Given the description of an element on the screen output the (x, y) to click on. 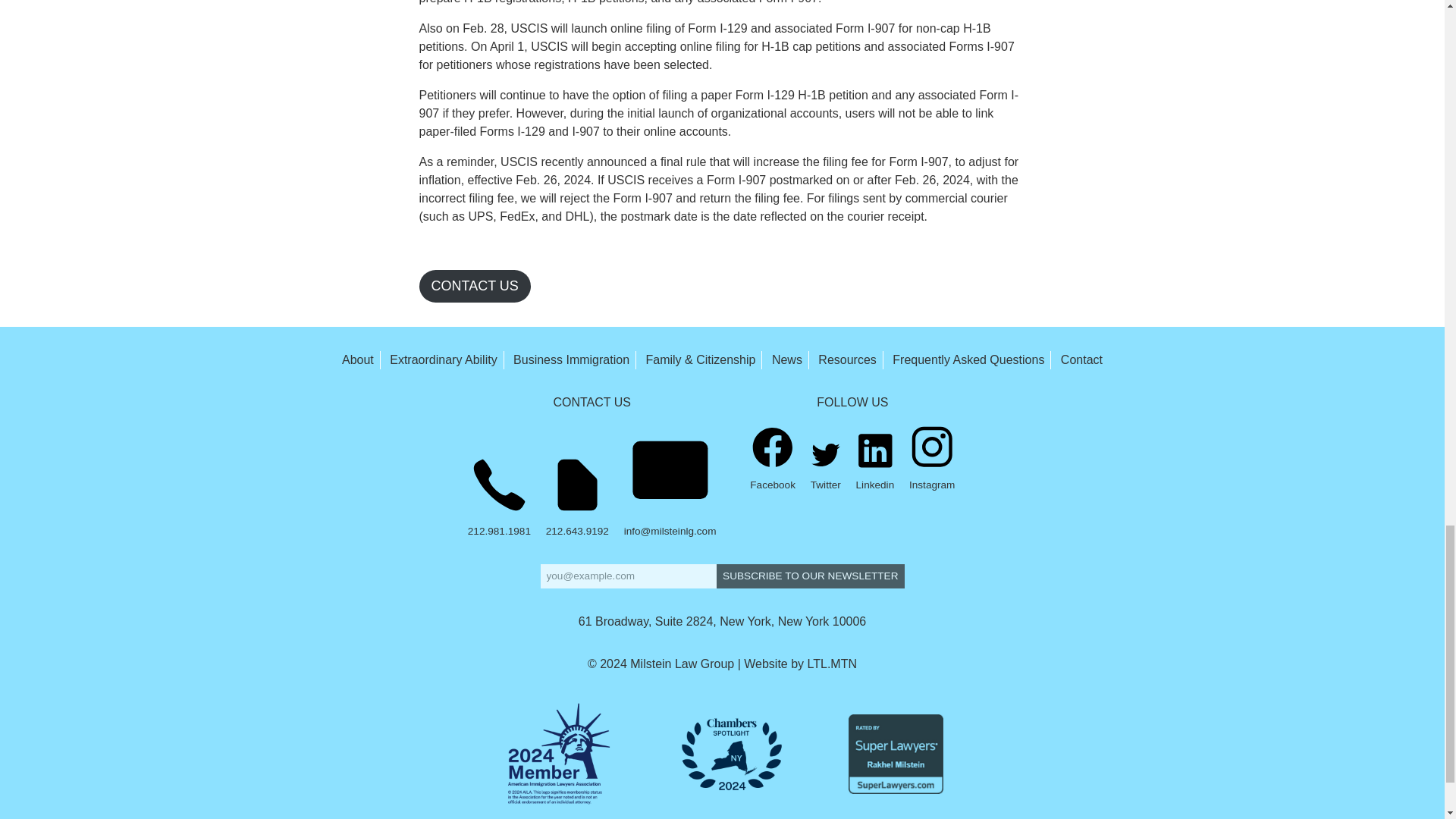
LTL.MTN (832, 663)
Frequently Asked Questions (967, 359)
Subscribe to our Newsletter (810, 576)
CONTACT US (474, 286)
About (358, 359)
Resources (847, 359)
Contact (1081, 359)
Business Immigration (570, 359)
Subscribe to our Newsletter (810, 576)
Extraordinary Ability (443, 359)
